Given the description of an element on the screen output the (x, y) to click on. 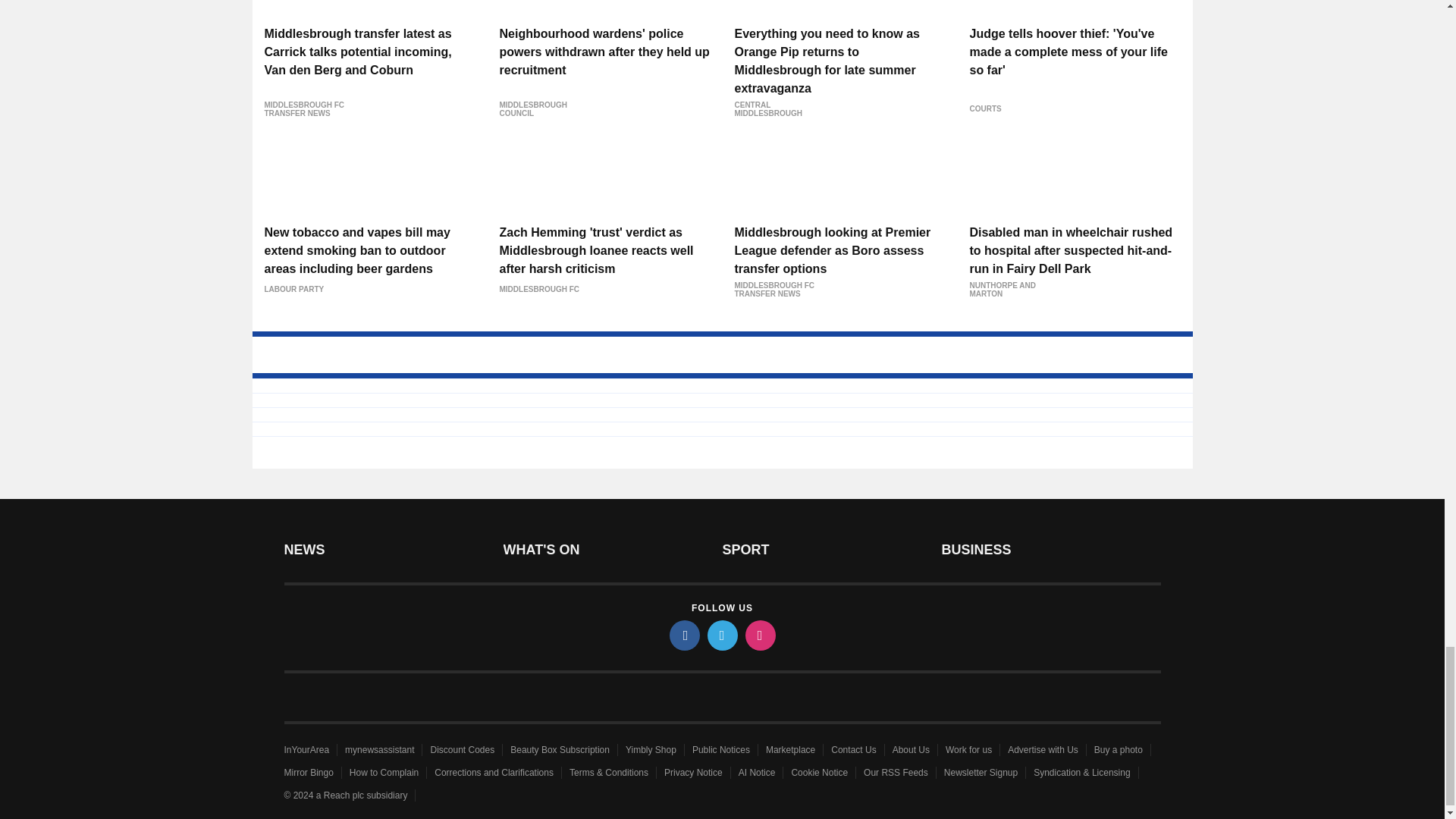
instagram (759, 634)
twitter (721, 634)
facebook (683, 634)
